Given the description of an element on the screen output the (x, y) to click on. 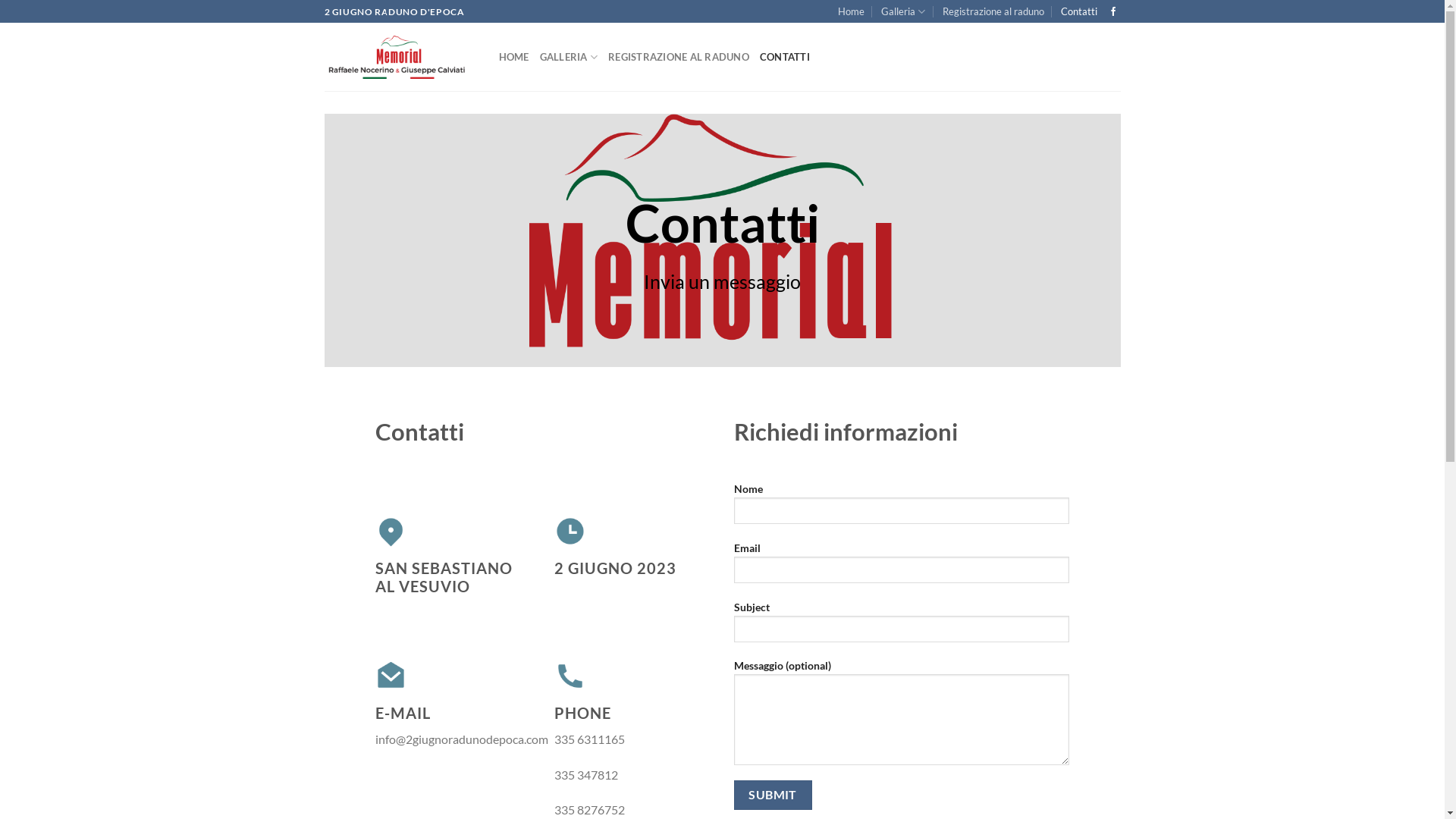
Contatti Element type: text (1078, 11)
Registrazione al raduno Element type: text (993, 11)
2GiugnoRadunod'Epoca Element type: hover (400, 57)
Home Element type: text (850, 11)
REGISTRAZIONE AL RADUNO Element type: text (678, 56)
Submit Element type: text (773, 794)
Seguici su Facebook Element type: hover (1112, 11)
CONTATTI Element type: text (784, 56)
GALLERIA Element type: text (568, 56)
HOME Element type: text (513, 56)
Galleria Element type: text (903, 11)
